Given the description of an element on the screen output the (x, y) to click on. 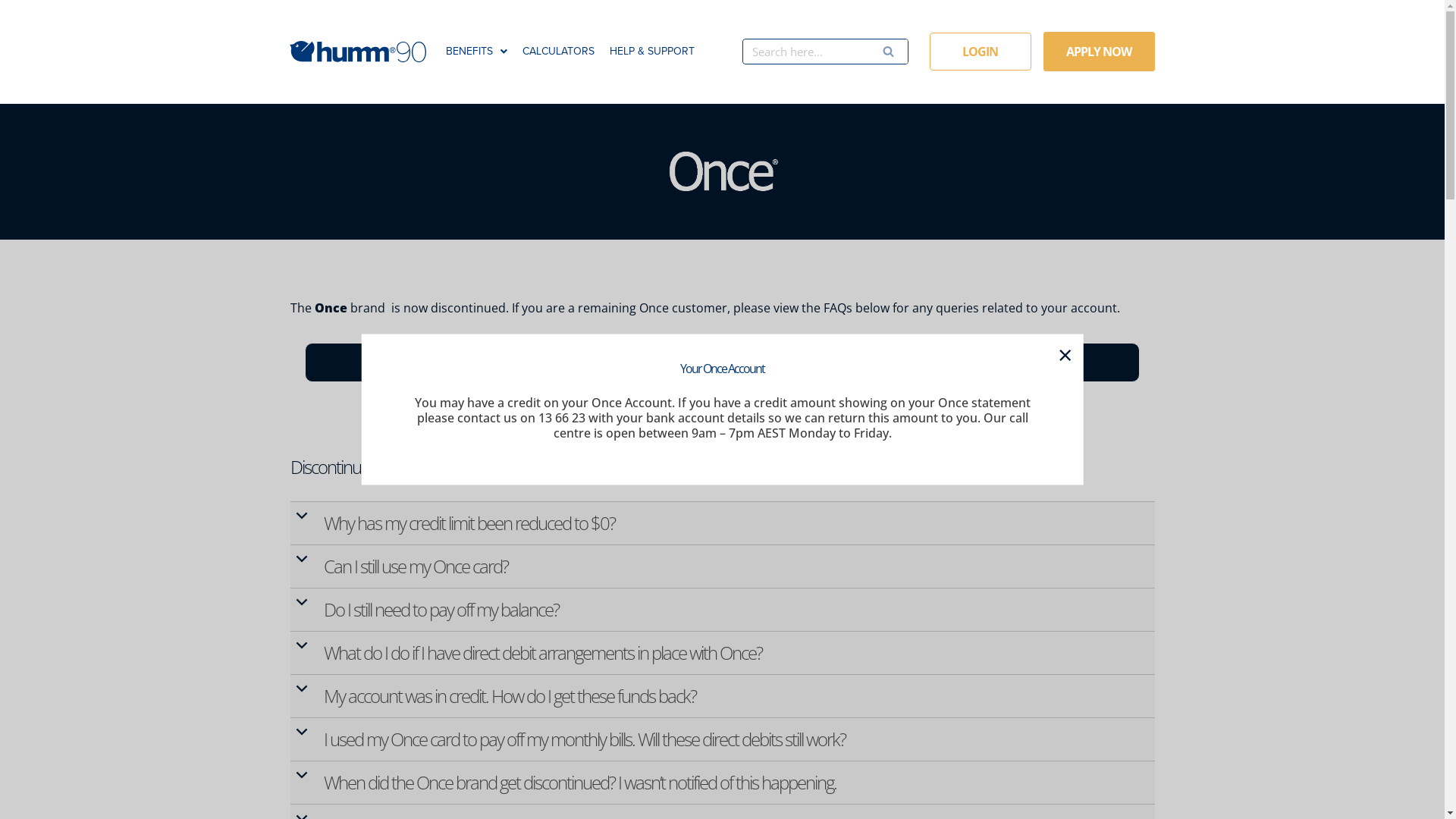
Next Page Element type: text (43, 18)
CALCULATORS Element type: text (557, 51)
Previous Page Element type: text (52, 18)
b
Why has my credit limit been reduced to $0? Element type: text (723, 523)
Customer Login Element type: text (434, 362)
b
Can I still use my Once card? Element type: text (723, 566)
Compliments & Complaints Element type: text (721, 362)
HELP & SUPPORT Element type: text (651, 51)
b
My account was in credit. How do I get these funds back? Element type: text (723, 695)
LOGIN Element type: text (980, 51)
Financial hardship Element type: text (1009, 362)
APPLY NOW Element type: text (1098, 51)
BENEFITS Element type: text (476, 51)
b
Do I still need to pay off my balance? Element type: text (723, 609)
